Given the description of an element on the screen output the (x, y) to click on. 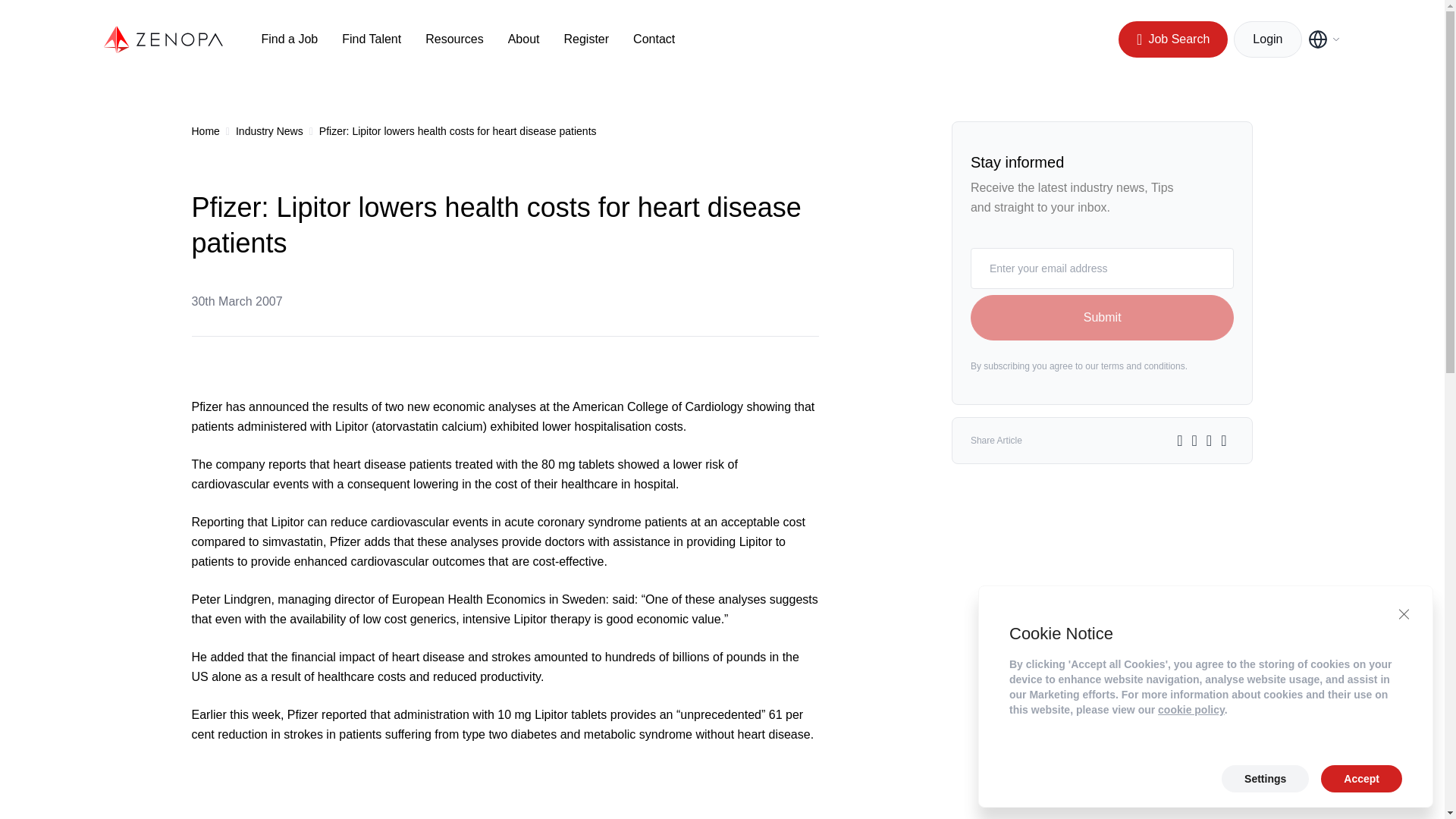
Zenopa (163, 39)
Find a Job (288, 39)
Find Talent (371, 39)
